Given the description of an element on the screen output the (x, y) to click on. 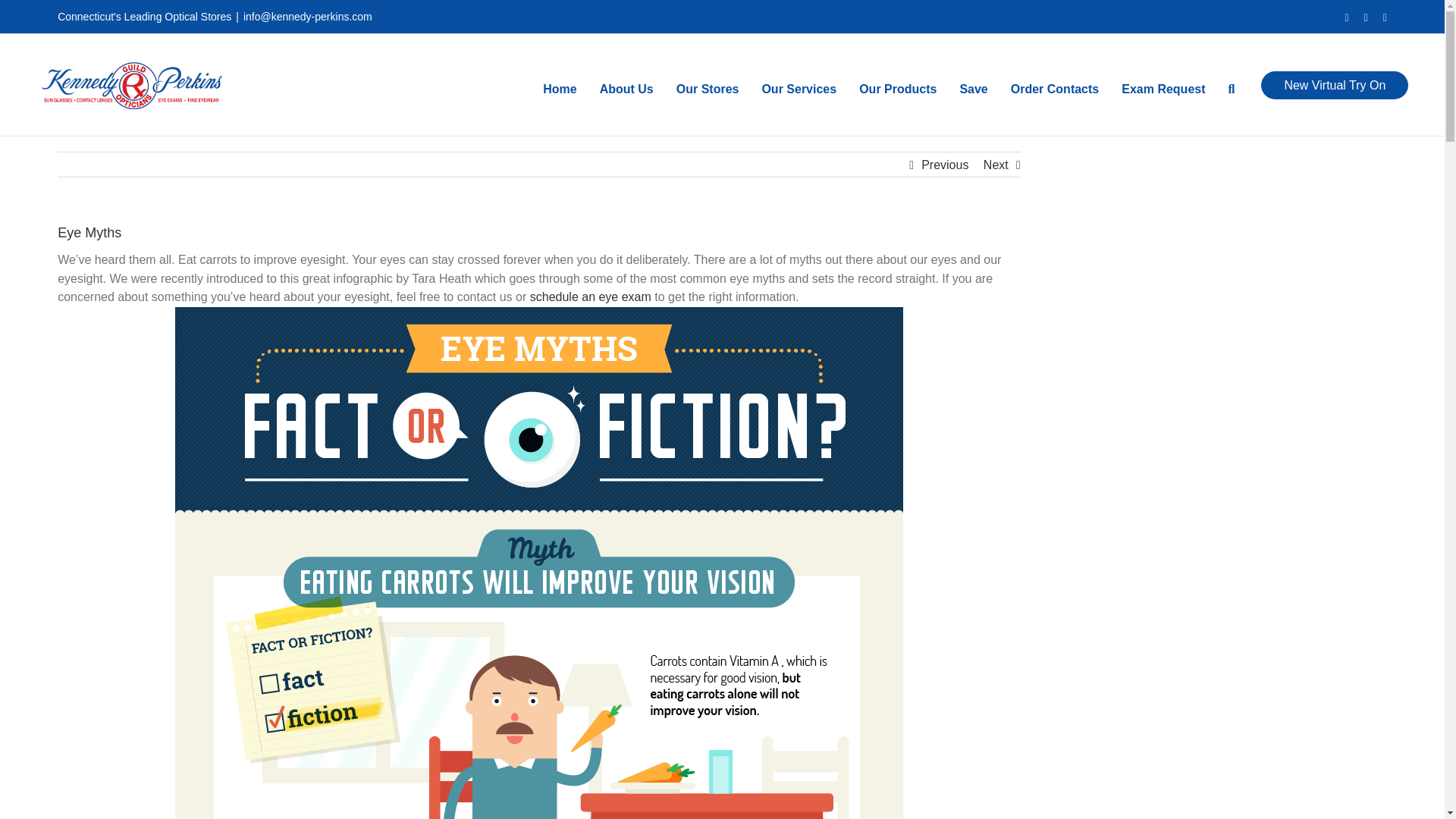
Order Contacts (1054, 85)
Our Products (897, 85)
Exam Request (1163, 85)
Our Services (798, 85)
About Us (626, 85)
Our Stores (708, 85)
